Given the description of an element on the screen output the (x, y) to click on. 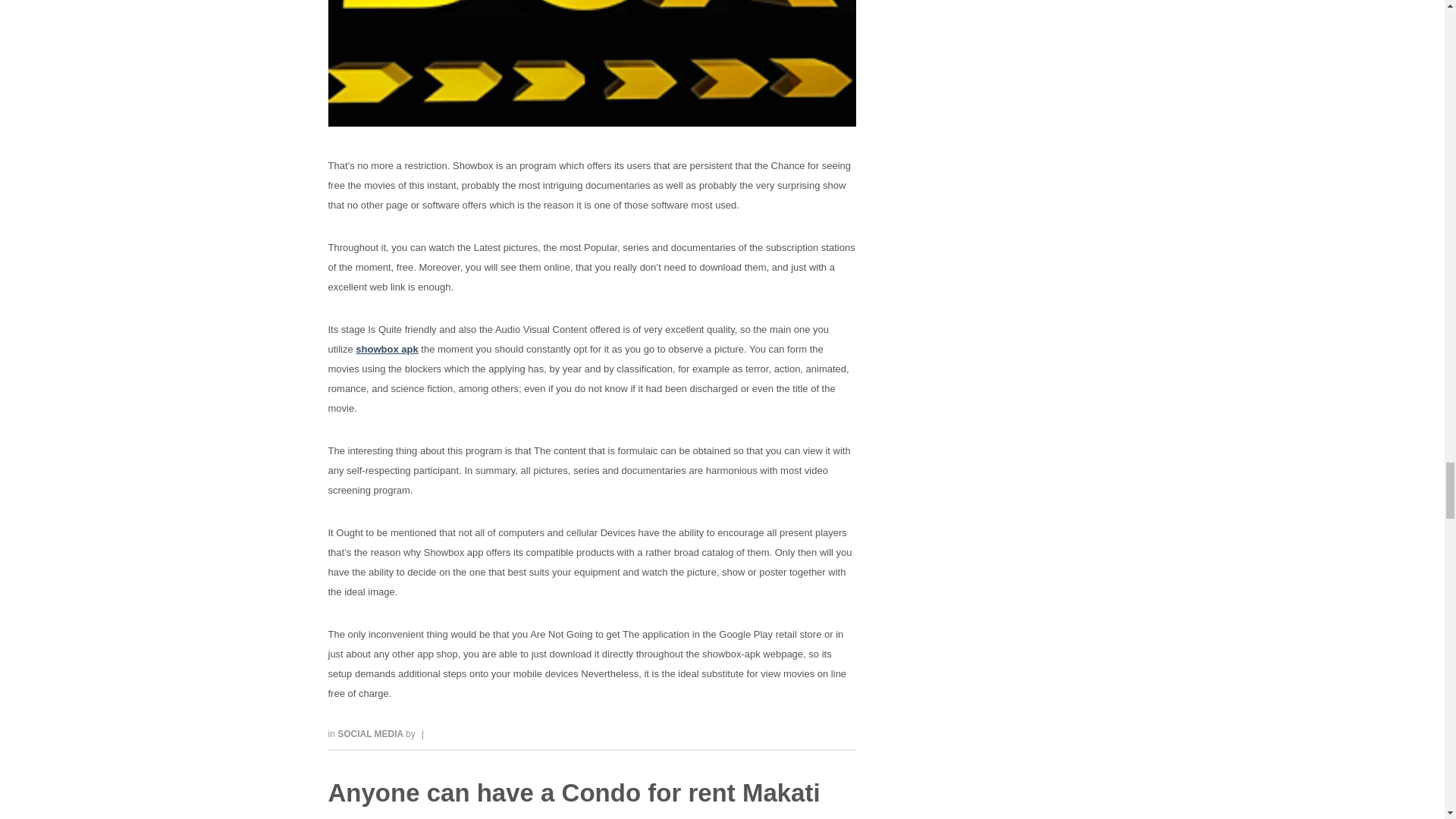
SOCIAL MEDIA (371, 733)
Anyone can have a Condo for rent Makati (573, 792)
showbox apk (386, 348)
